Given the description of an element on the screen output the (x, y) to click on. 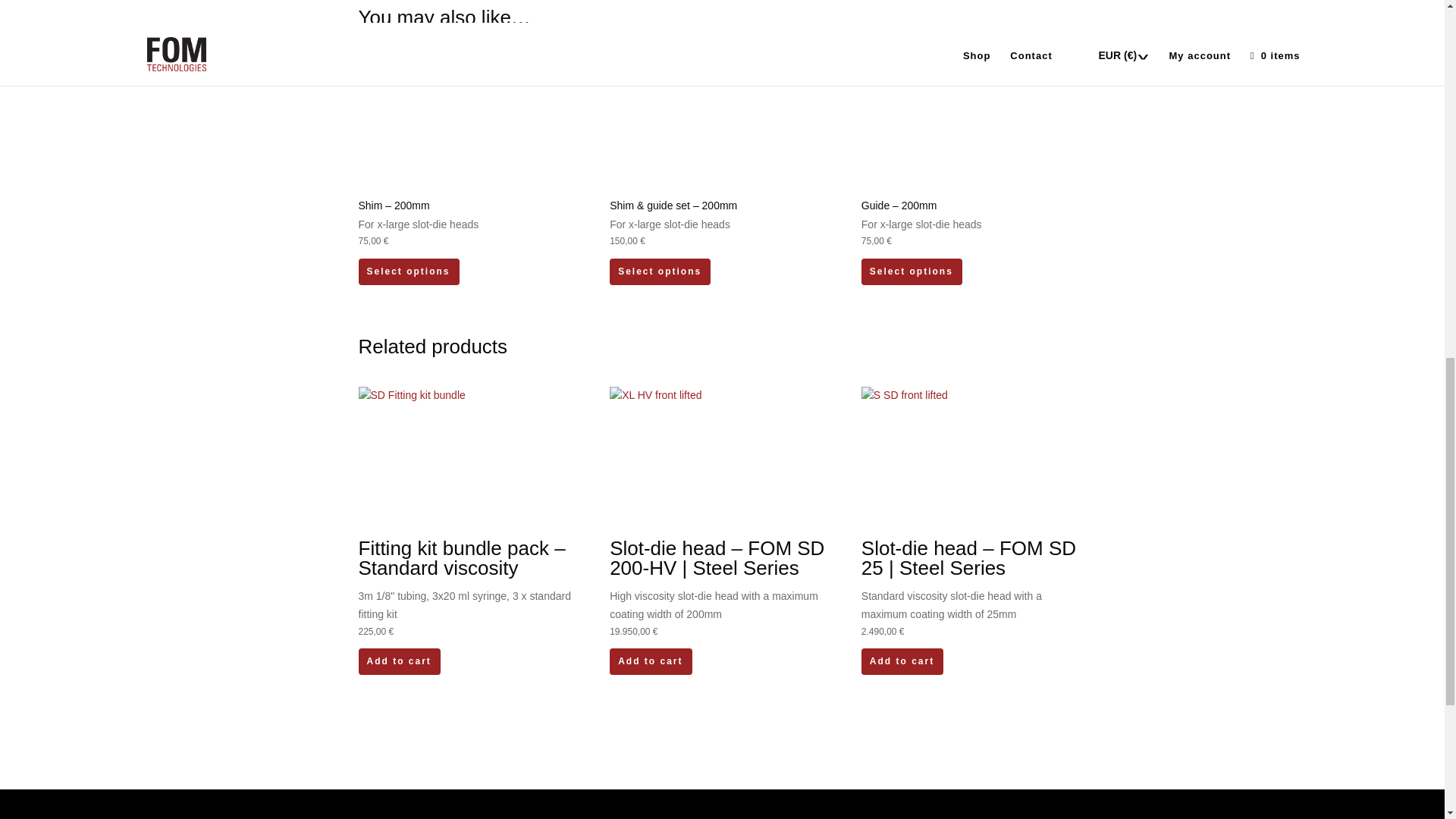
Select options (660, 271)
Select options (911, 271)
Add to cart (650, 661)
Add to cart (398, 661)
Select options (408, 271)
Add to cart (902, 661)
